Given the description of an element on the screen output the (x, y) to click on. 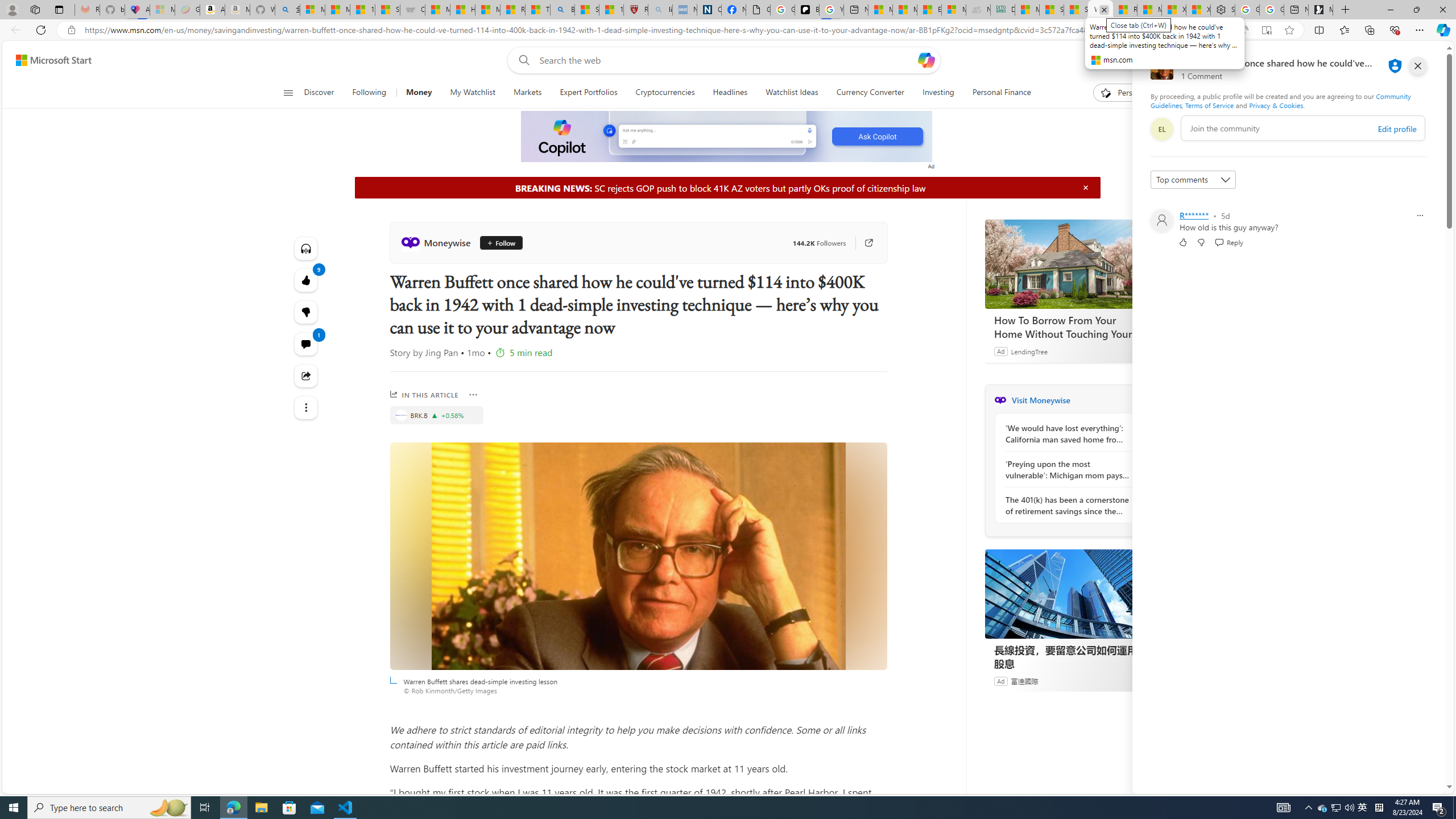
Investing (937, 92)
Expert Portfolios (588, 92)
Moneywise (1000, 399)
Like (1182, 241)
Personal Finance (996, 92)
Reply Reply Comment (1228, 241)
Watchlist Ideas (791, 92)
BERKSHIRE HATHAWAY INC. (400, 414)
Go to publisher's site (863, 242)
